Given the description of an element on the screen output the (x, y) to click on. 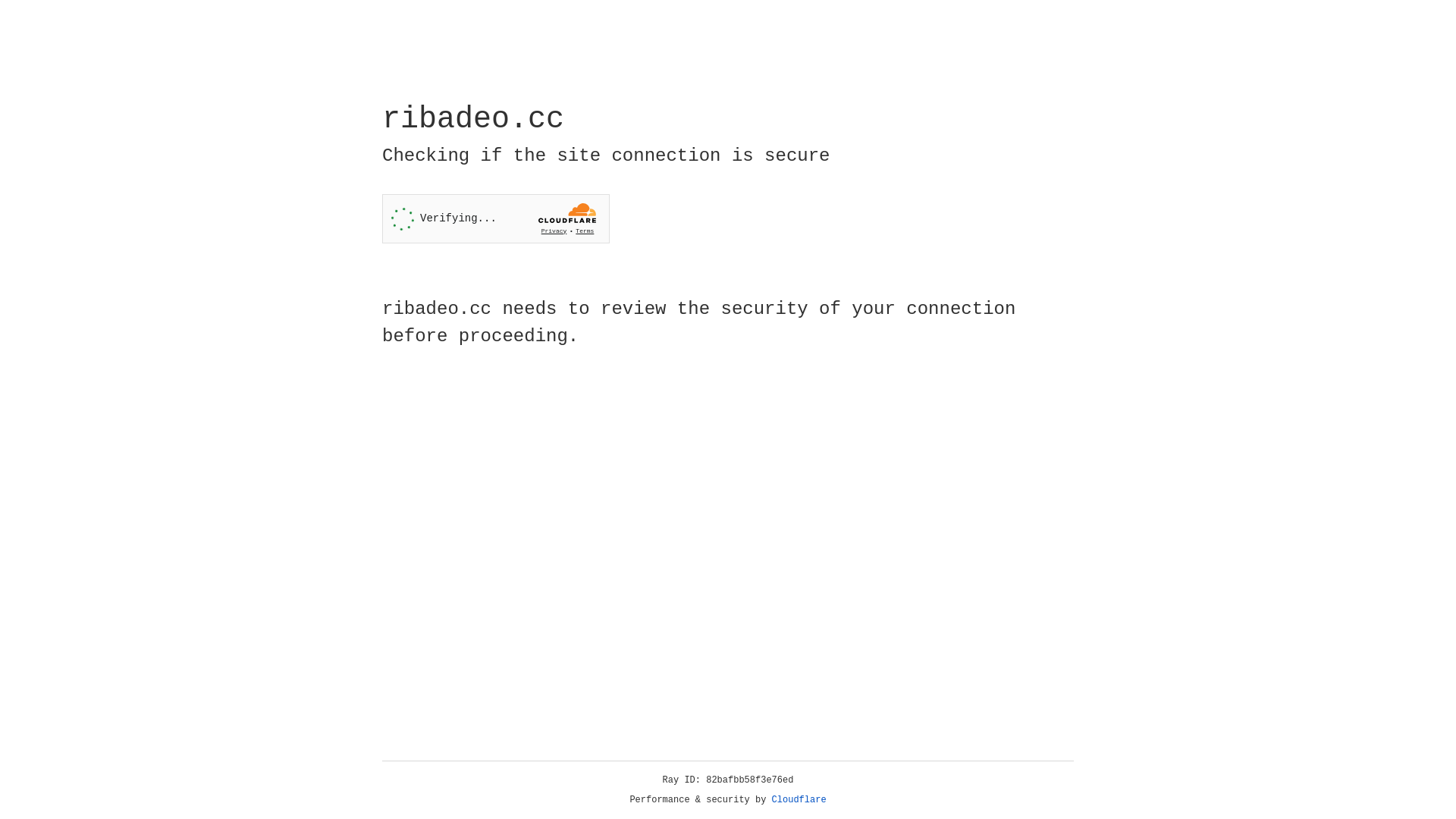
Widget containing a Cloudflare security challenge Element type: hover (495, 218)
Cloudflare Element type: text (798, 799)
